Given the description of an element on the screen output the (x, y) to click on. 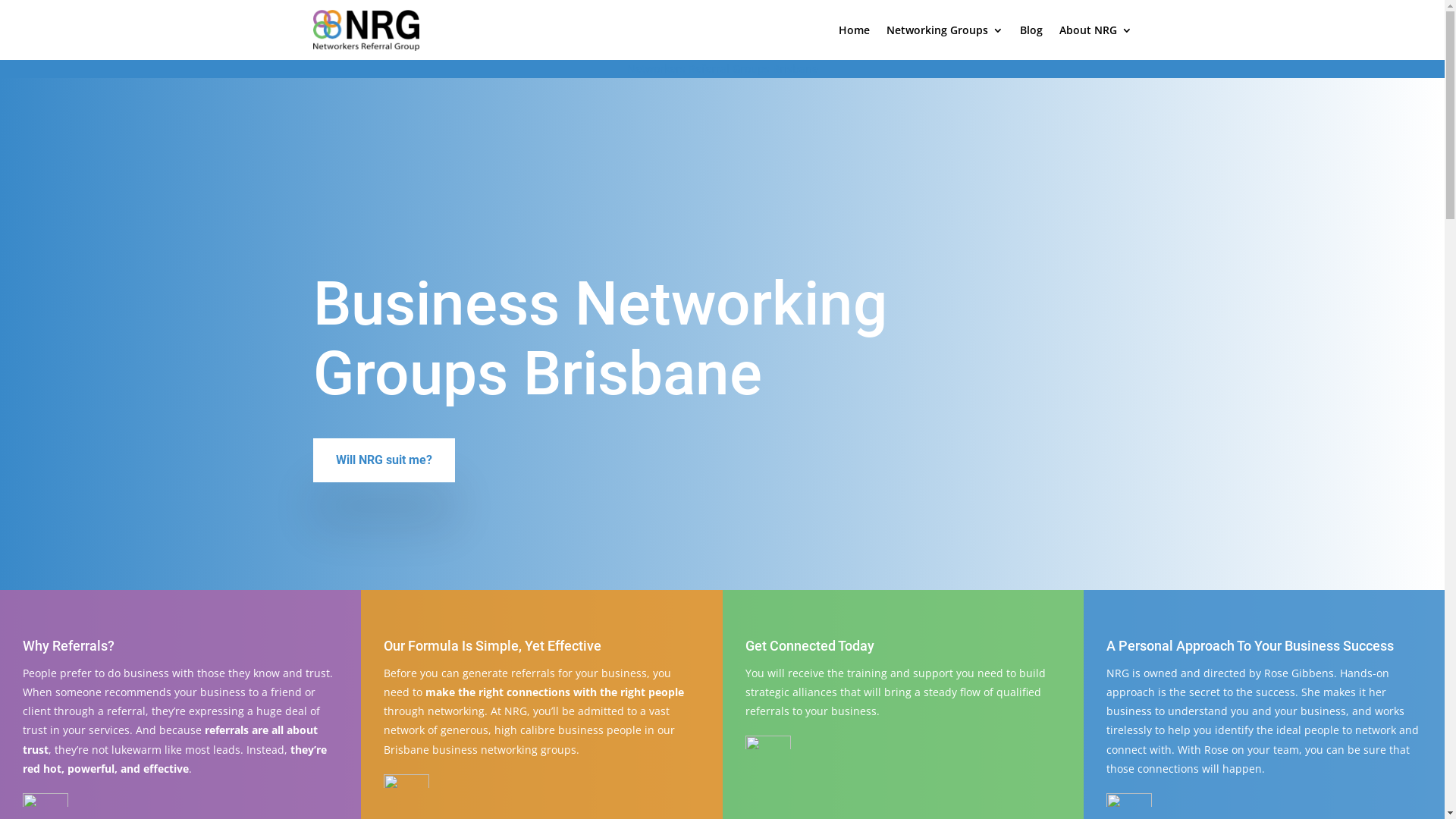
Home Element type: text (853, 30)
high-school_26 Element type: hover (1128, 799)
Will NRG suit me? Element type: text (383, 459)
high-school_26 Element type: hover (406, 780)
high-school_26 Element type: hover (767, 742)
Networking Groups Element type: text (943, 30)
high-school_26 Element type: hover (45, 799)
About NRG Element type: text (1094, 30)
Blog Element type: text (1030, 30)
